Given the description of an element on the screen output the (x, y) to click on. 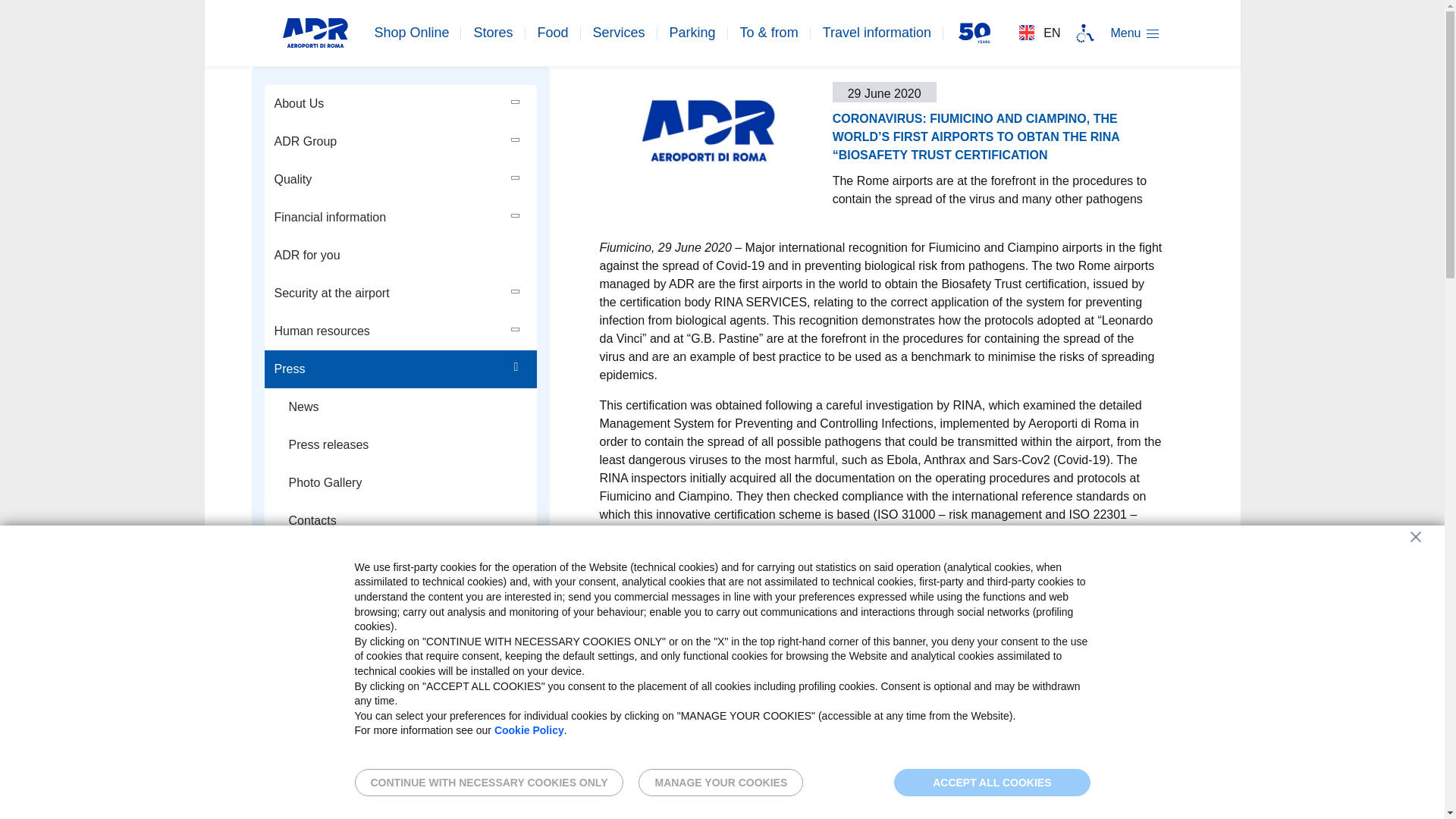
cookie policy (529, 729)
Food (553, 32)
Shop Online (411, 32)
CONTINUE WITH NECESSARY COOKIES ONLY (489, 782)
Services (618, 32)
50 Years (973, 32)
MANAGE YOUR COOKIES (721, 782)
Parking (692, 32)
Travel information (876, 32)
Stores (492, 32)
